Given the description of an element on the screen output the (x, y) to click on. 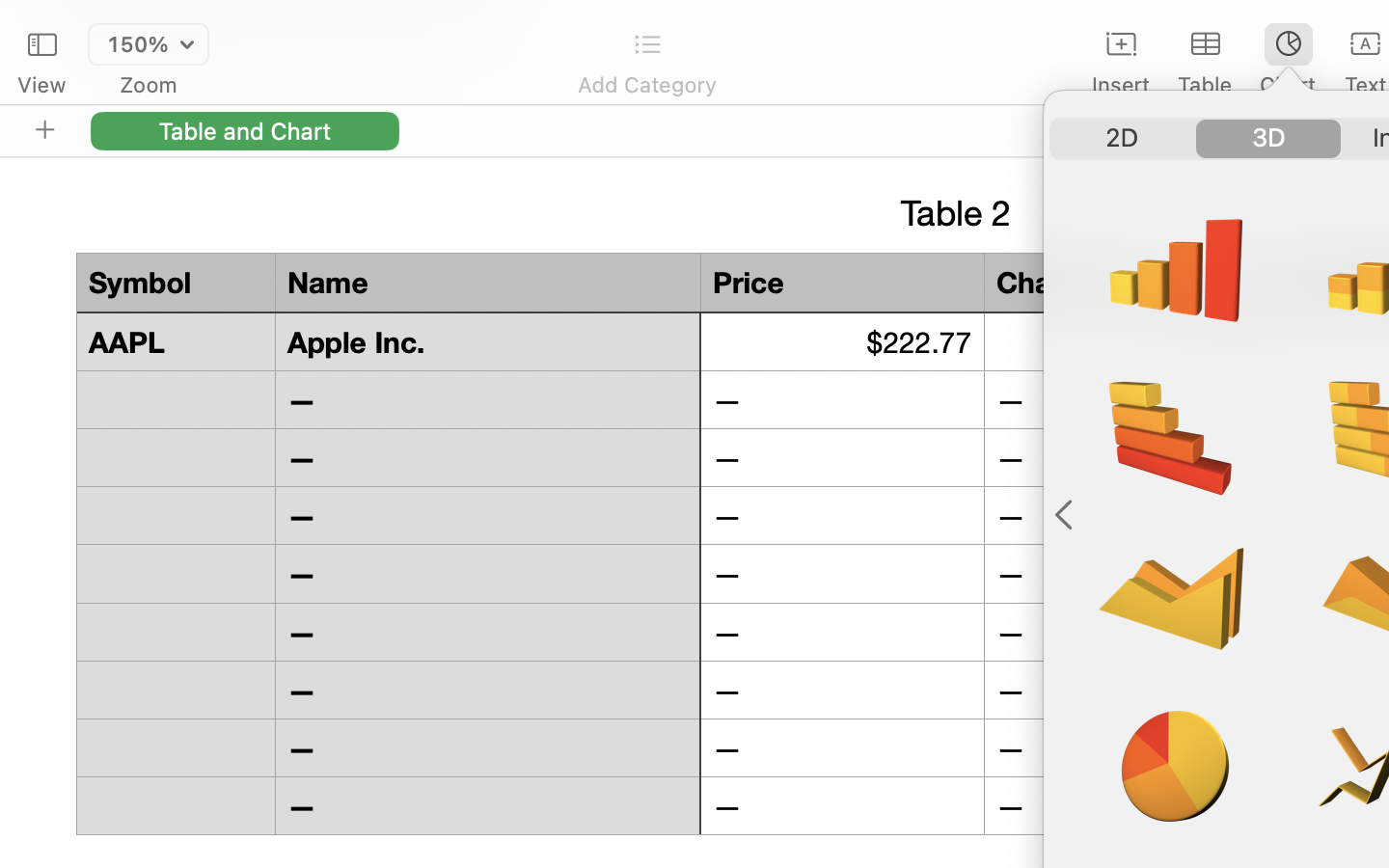
View Element type: AXStaticText (41, 84)
Zoom Element type: AXStaticText (148, 84)
Add Category Element type: AXStaticText (646, 84)
